Given the description of an element on the screen output the (x, y) to click on. 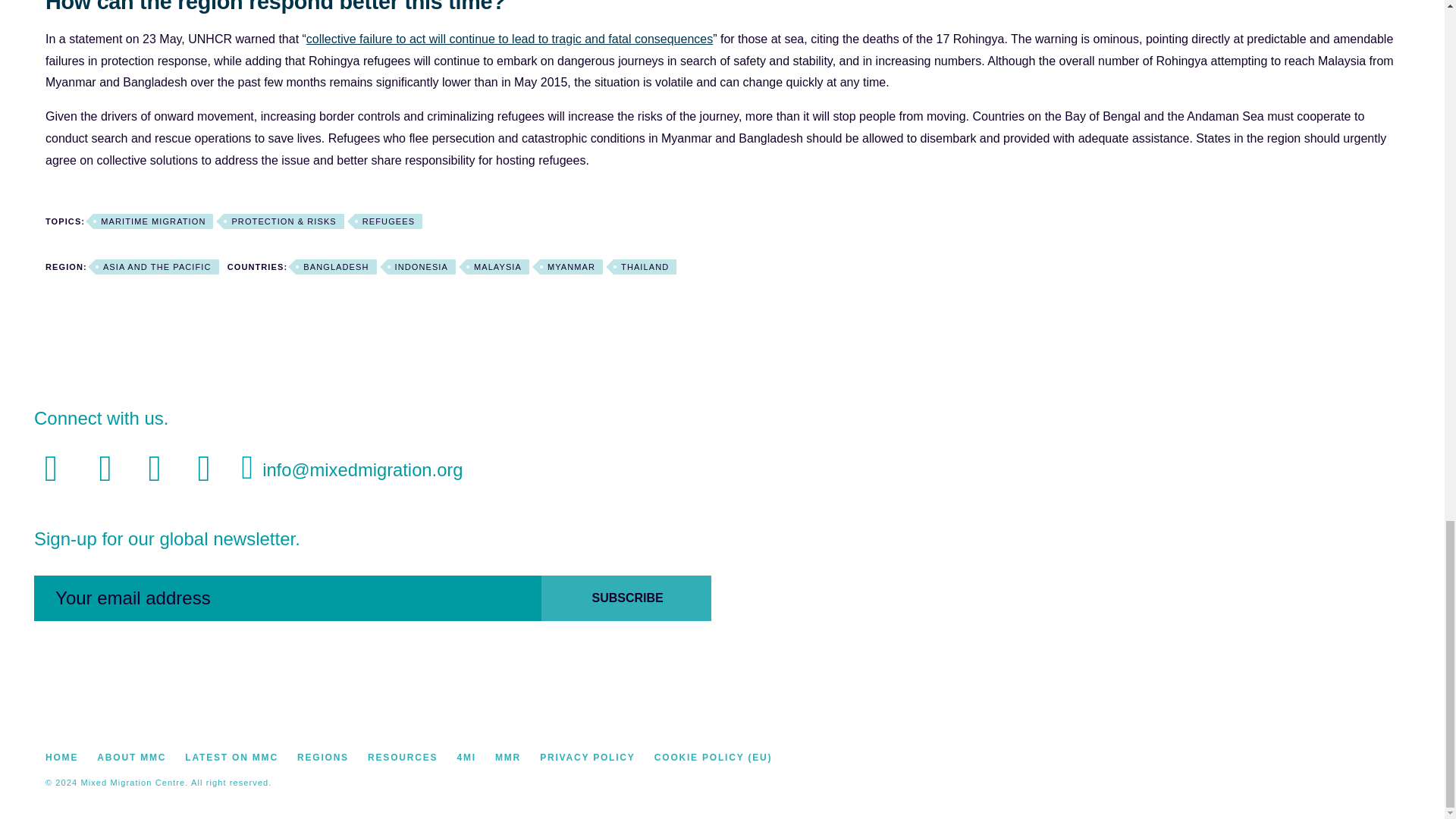
Subscribe (625, 597)
